Given the description of an element on the screen output the (x, y) to click on. 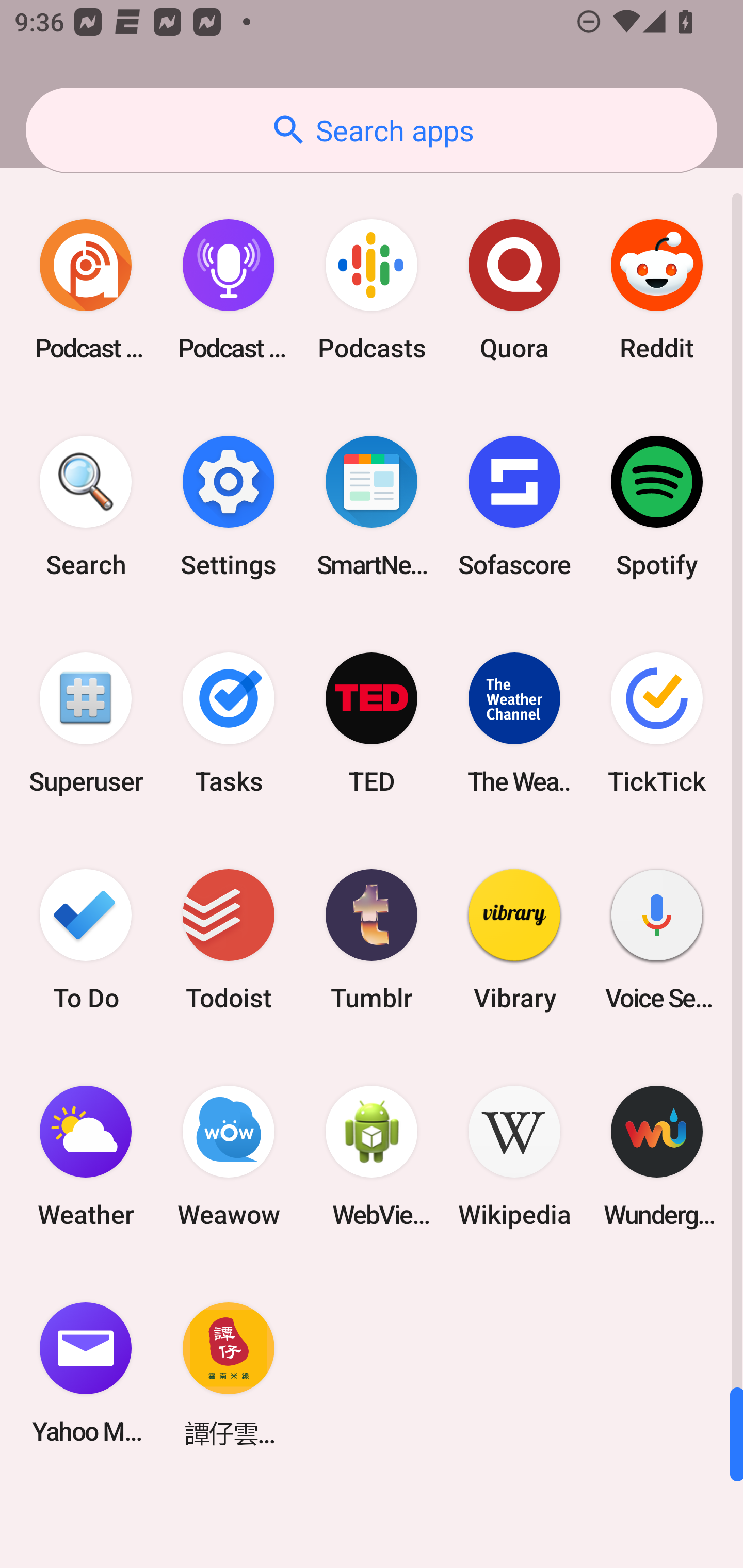
  Search apps (371, 130)
Podcast Addict (85, 289)
Podcast Player (228, 289)
Podcasts (371, 289)
Quora (514, 289)
Reddit (656, 289)
Search (85, 506)
Settings (228, 506)
SmartNews (371, 506)
Sofascore (514, 506)
Spotify (656, 506)
Superuser (85, 722)
Tasks (228, 722)
TED (371, 722)
The Weather Channel (514, 722)
TickTick (656, 722)
To Do (85, 939)
Todoist (228, 939)
Tumblr (371, 939)
Vibrary (514, 939)
Voice Search (656, 939)
Weather (85, 1156)
Weawow (228, 1156)
WebView Browser Tester (371, 1156)
Wikipedia (514, 1156)
Wunderground (656, 1156)
Yahoo Mail (85, 1373)
譚仔雲南米線 (228, 1373)
